Given the description of an element on the screen output the (x, y) to click on. 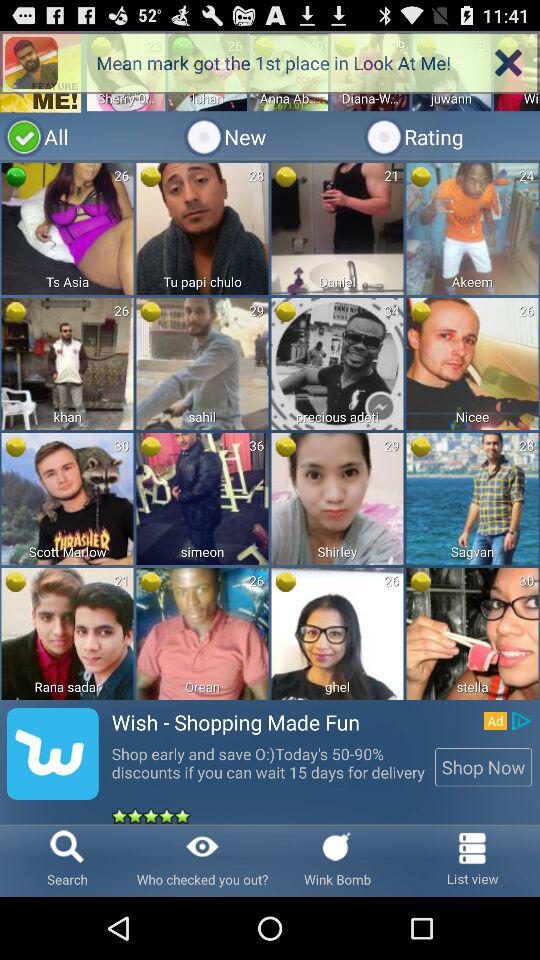
go to advertisement page (270, 427)
